Given the description of an element on the screen output the (x, y) to click on. 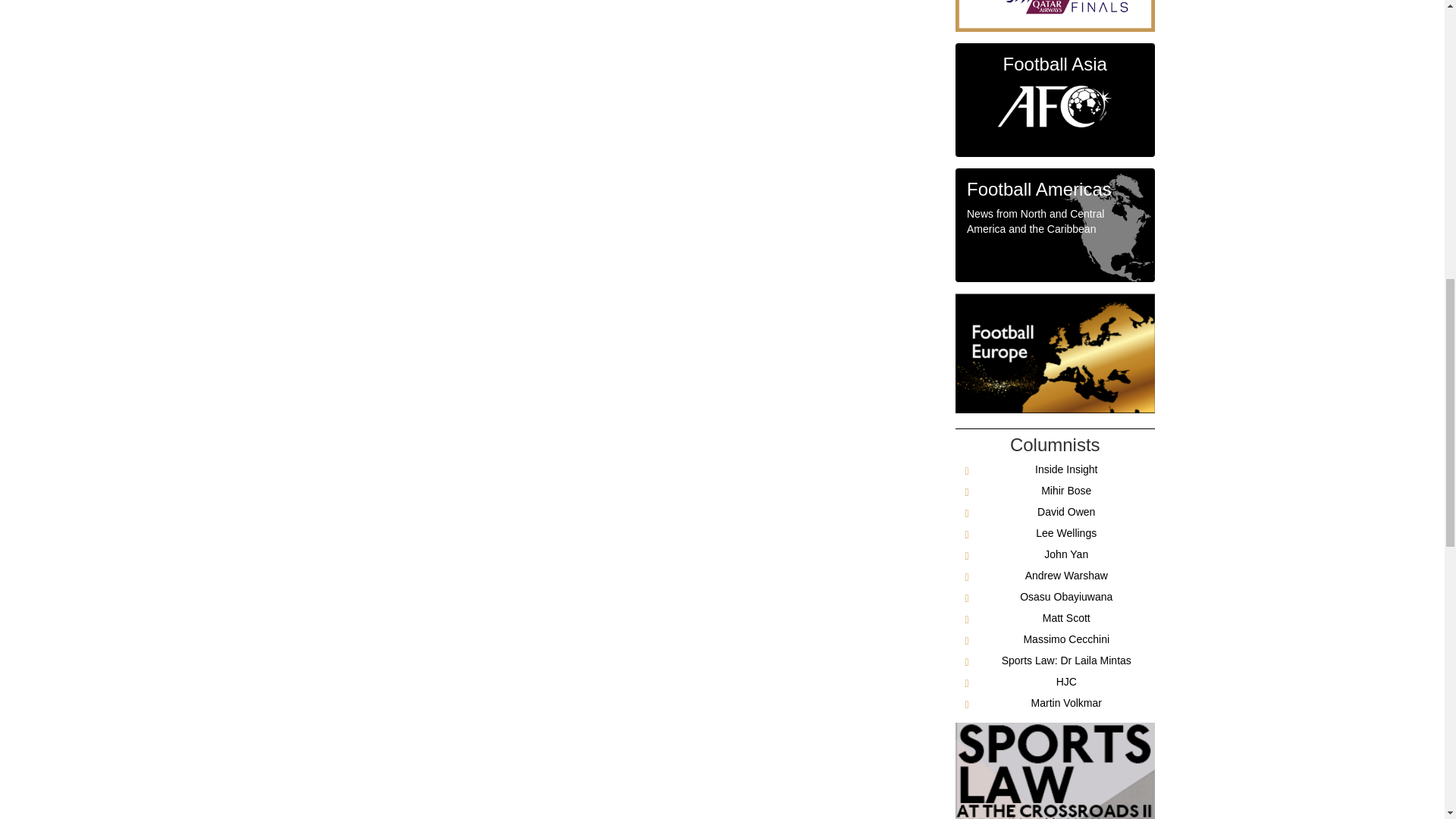
Sports Law: Dr Laila Mintas (1066, 660)
Osasu Obayiuwana (1066, 596)
Martin Volkmar (1066, 702)
Matt Scott (1066, 617)
Inside Insight (1066, 469)
David Owen (1065, 511)
Lee Wellings (1065, 532)
John Yan (1065, 553)
HJC (1067, 681)
